Given the description of an element on the screen output the (x, y) to click on. 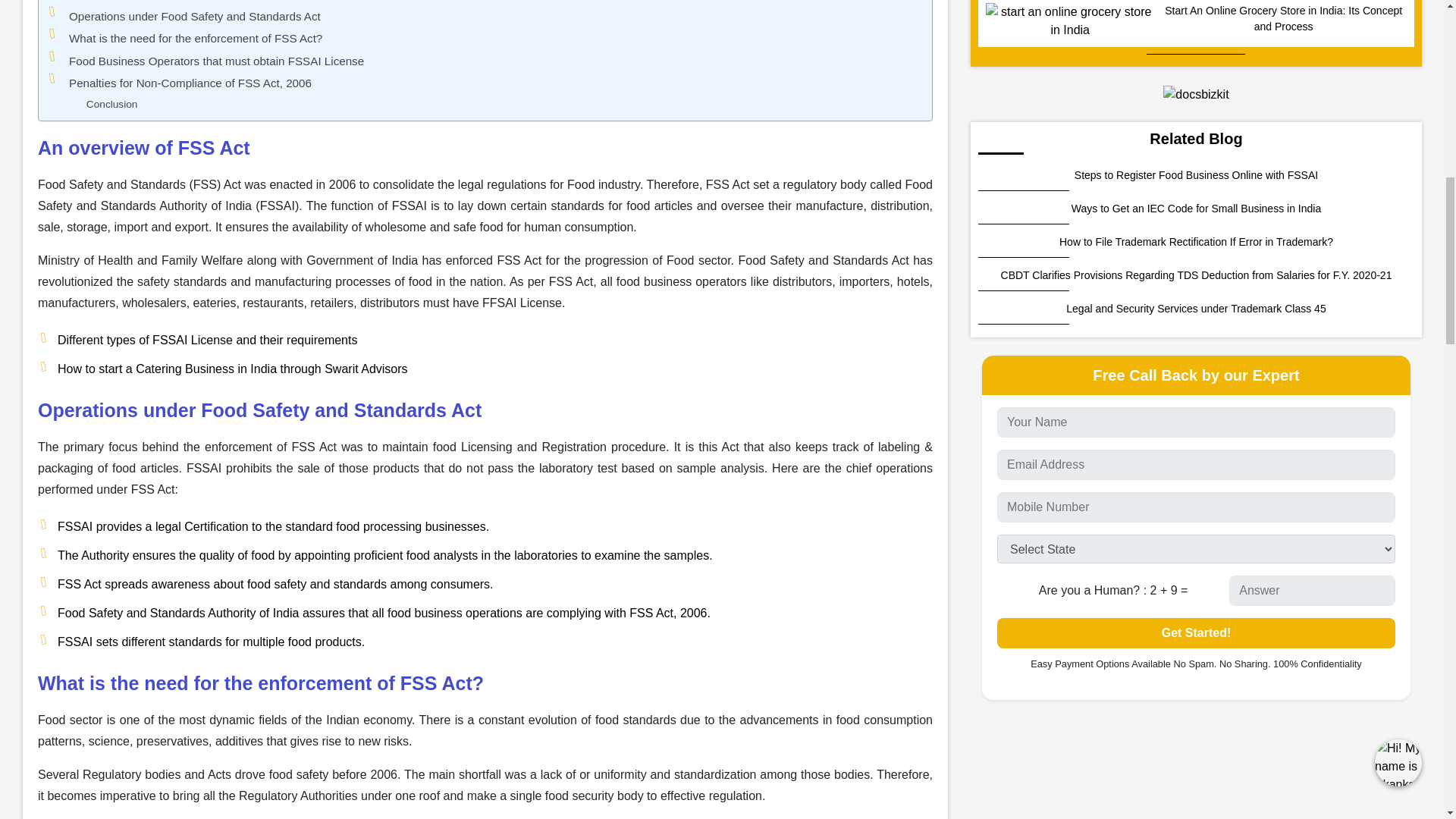
Search (222, 812)
Twitter (138, 764)
Search (222, 812)
Reddit (32, 764)
Whatsapp (191, 764)
Instagram (297, 764)
Pinterest (85, 764)
Total Shares (425, 764)
Linkedin (244, 764)
More (357, 764)
